Given the description of an element on the screen output the (x, y) to click on. 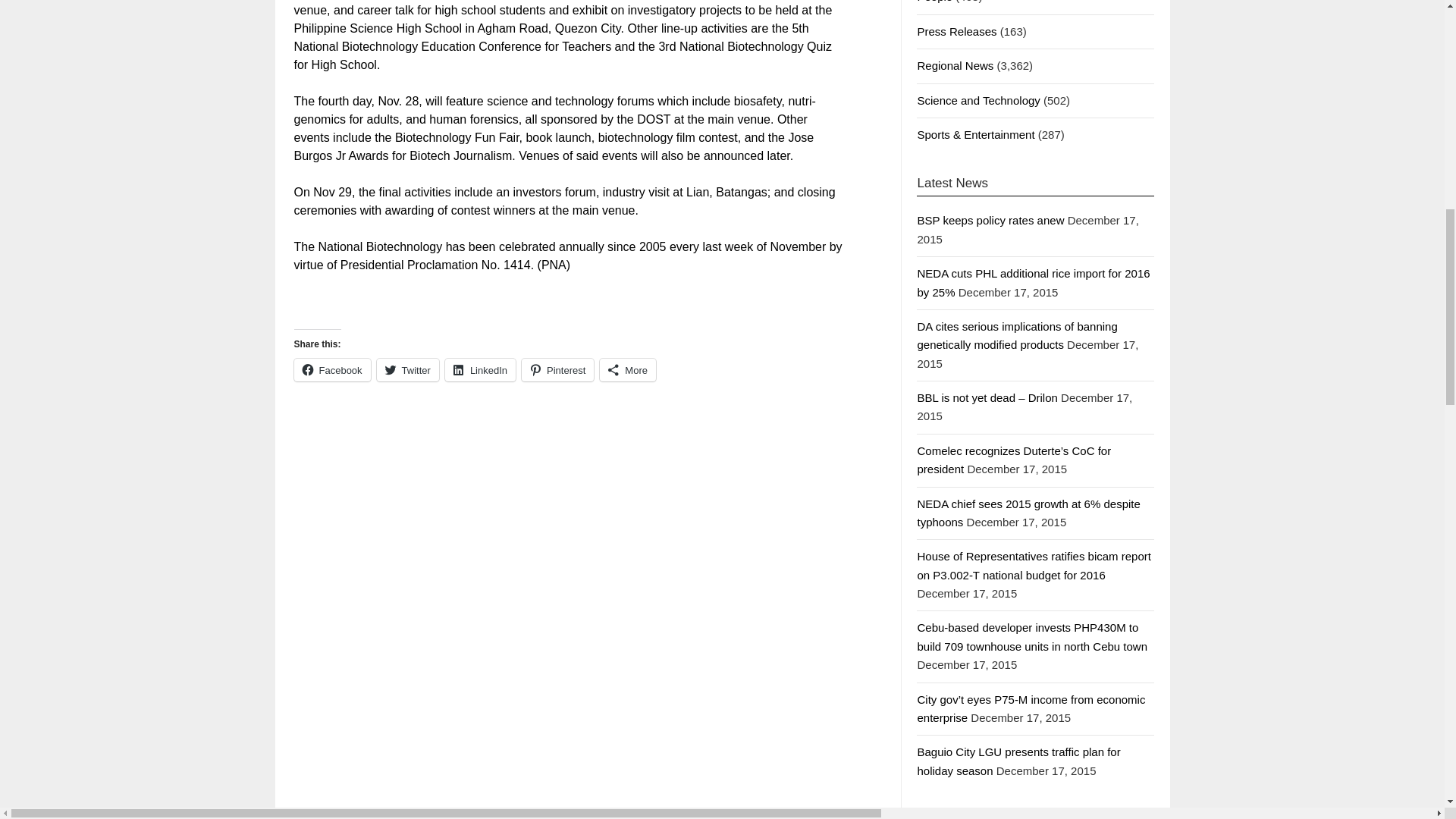
Click to share on LinkedIn (480, 369)
Click to share on Twitter (408, 369)
Twitter (408, 369)
Pinterest (557, 369)
Press Releases (956, 31)
BSP keeps policy rates anew (990, 219)
More (627, 369)
People (934, 1)
Click to share on Facebook (332, 369)
Click to share on Pinterest (557, 369)
